Given the description of an element on the screen output the (x, y) to click on. 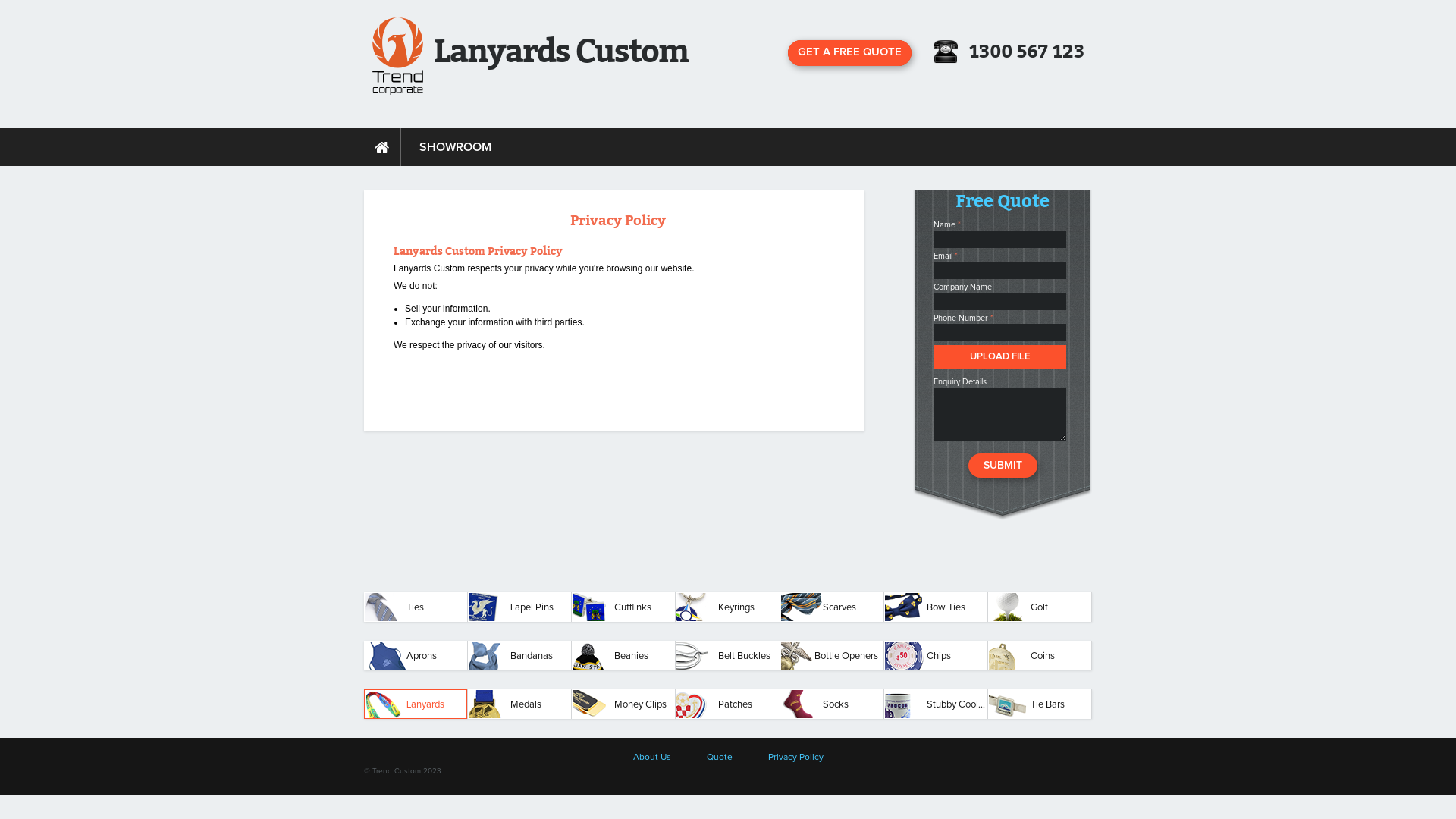
UPLOAD FILE Element type: text (999, 356)
Beanies Element type: text (622, 655)
Stubby Coolers Element type: text (935, 703)
Money Clips Element type: text (622, 703)
Chips Element type: text (935, 655)
Privacy Policy Element type: text (794, 757)
Ties Element type: text (415, 606)
Socks Element type: text (831, 703)
SHOWROOM Element type: text (455, 147)
About Us Element type: text (651, 757)
Golf Element type: text (1039, 606)
Medals Element type: text (519, 703)
Scarves Element type: text (831, 606)
Submit Element type: text (1001, 465)
Lanyards Element type: text (415, 703)
Bottle Openers Element type: text (831, 655)
HOME Element type: text (382, 147)
Lanyards Custom Element type: hover (397, 55)
Lanyards Custom Element type: text (560, 49)
Coins Element type: text (1039, 655)
GET A FREE QUOTE Element type: text (849, 52)
Keyrings Element type: text (726, 606)
Bow Ties Element type: text (935, 606)
Lapel Pins Element type: text (519, 606)
Cufflinks Element type: text (622, 606)
Quote Element type: text (719, 757)
Aprons Element type: text (415, 655)
Skip to main content Element type: text (42, 0)
Belt Buckles Element type: text (726, 655)
Bandanas Element type: text (519, 655)
Patches Element type: text (726, 703)
Tie Bars Element type: text (1039, 703)
1300 567 123 Element type: text (1026, 51)
